Given the description of an element on the screen output the (x, y) to click on. 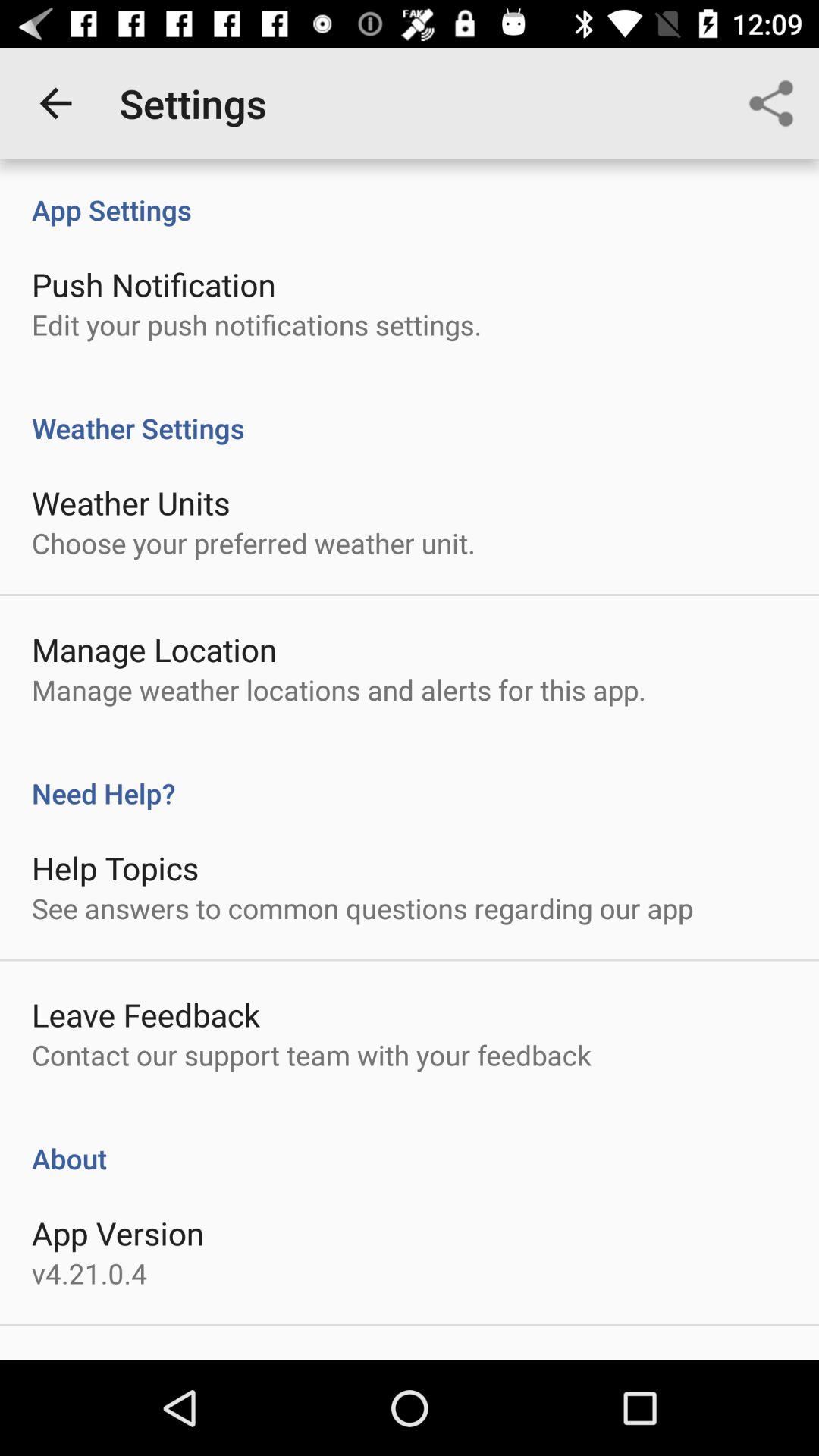
select contact our support (311, 1054)
